Given the description of an element on the screen output the (x, y) to click on. 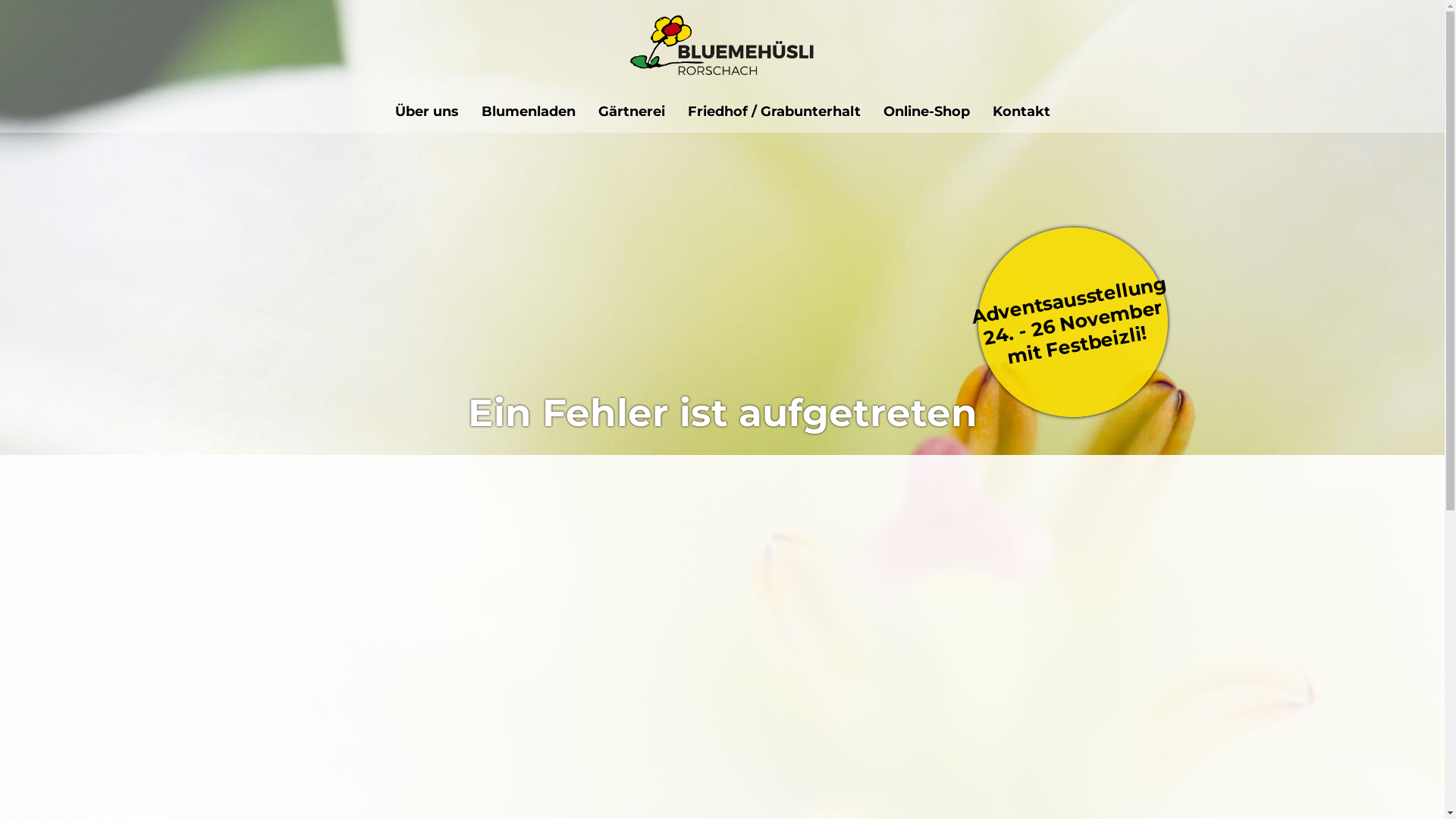
Blumenladen Element type: text (528, 111)
Online-Shop Element type: text (926, 111)
Kontakt Element type: text (1021, 111)
Friedhof / Grabunterhalt Element type: text (774, 111)
